Given the description of an element on the screen output the (x, y) to click on. 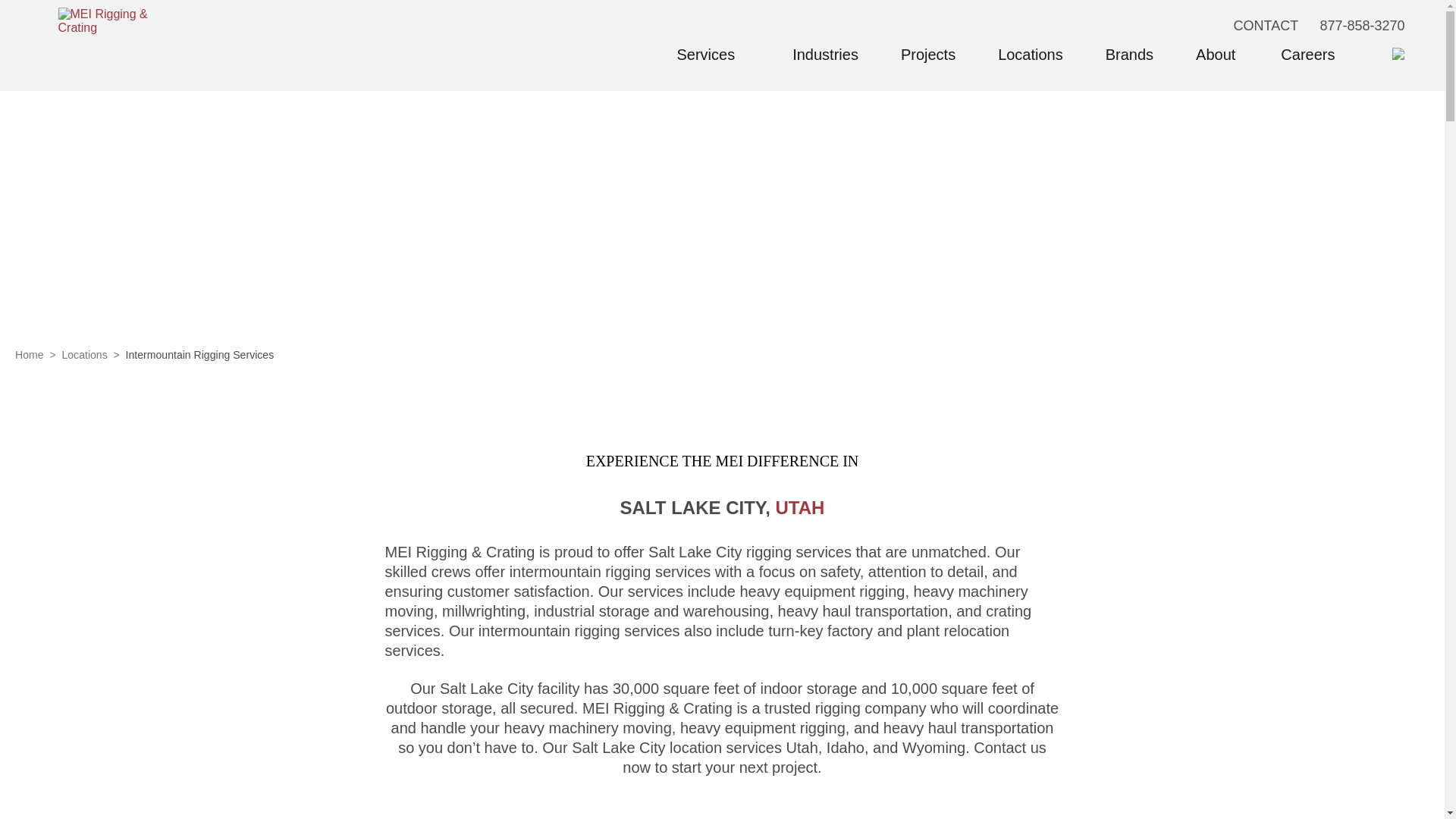
877-858-3270 (1362, 25)
Industries (825, 54)
Projects (928, 54)
CONTACT (1265, 25)
Locations (1029, 54)
Services (713, 54)
